Given the description of an element on the screen output the (x, y) to click on. 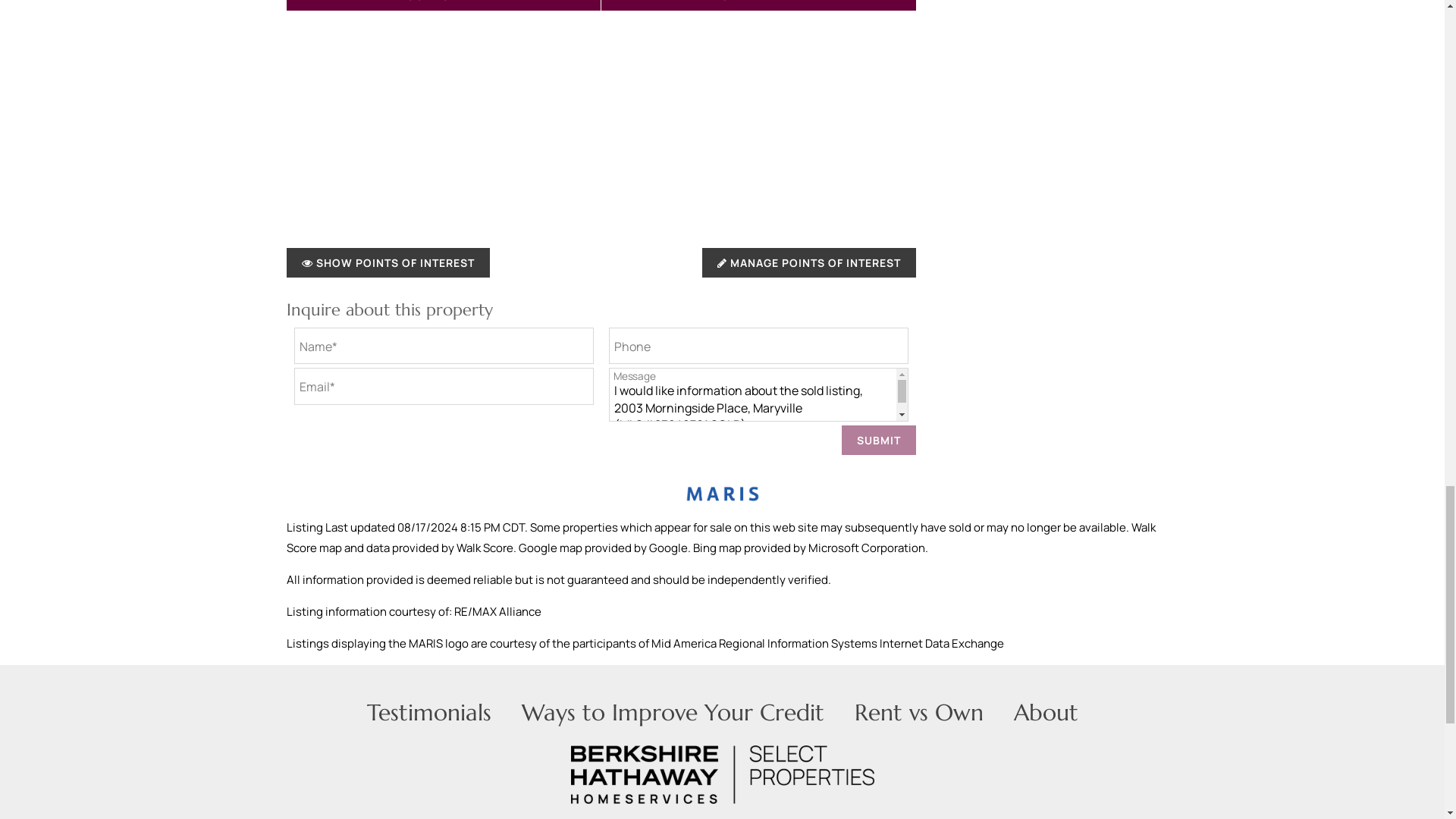
Testimonials (429, 712)
Rent vs Own (917, 712)
About (1045, 712)
Ways to Improve Your Credit (672, 712)
